Given the description of an element on the screen output the (x, y) to click on. 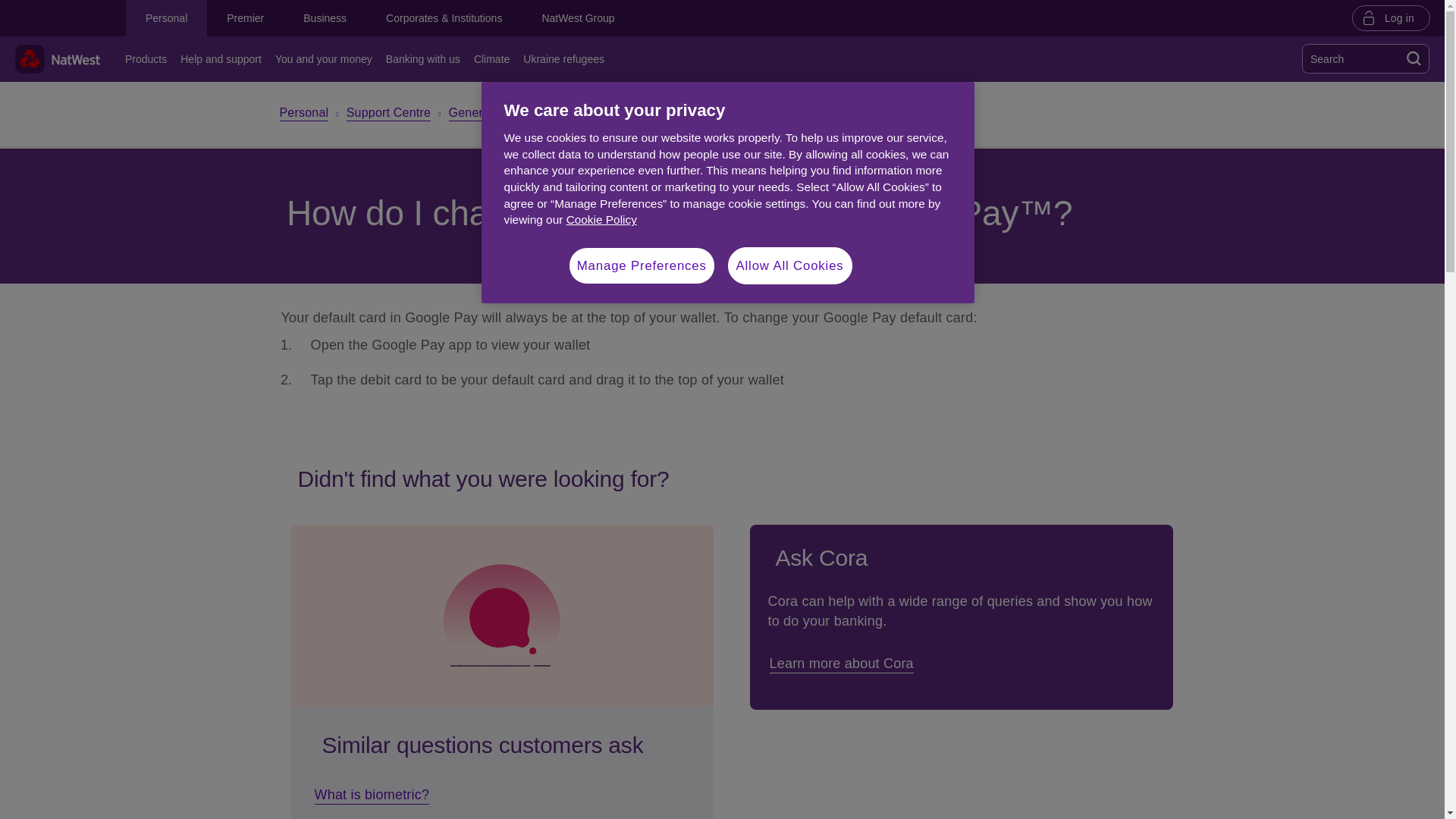
General banking information (526, 114)
Products (149, 58)
Business (324, 18)
Learn more about Cora (842, 663)
Personal (165, 18)
Personal (304, 114)
Support Centre (388, 114)
General (644, 114)
Log in (1390, 17)
NatWest Logo (57, 59)
